Given the description of an element on the screen output the (x, y) to click on. 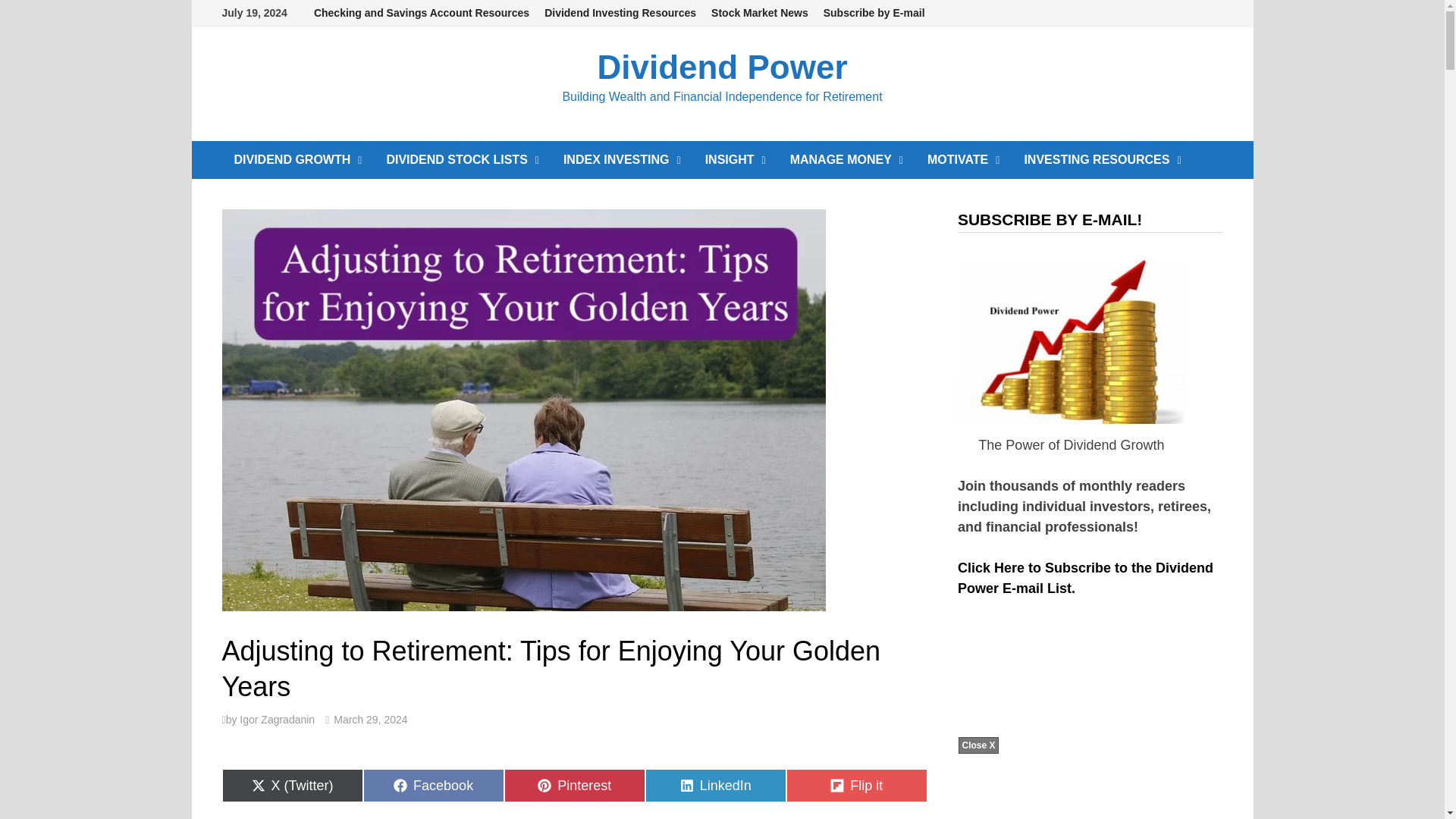
INSIGHT (735, 159)
DIVIDEND GROWTH (297, 159)
3rd party ad content (1071, 731)
INDEX INVESTING (622, 159)
Subscribe by E-mail (874, 13)
Stock Market News (759, 13)
Checking and Savings Account Resources (421, 13)
Dividend Power (721, 66)
DIVIDEND STOCK LISTS (462, 159)
Dividend Investing Resources (620, 13)
